Given the description of an element on the screen output the (x, y) to click on. 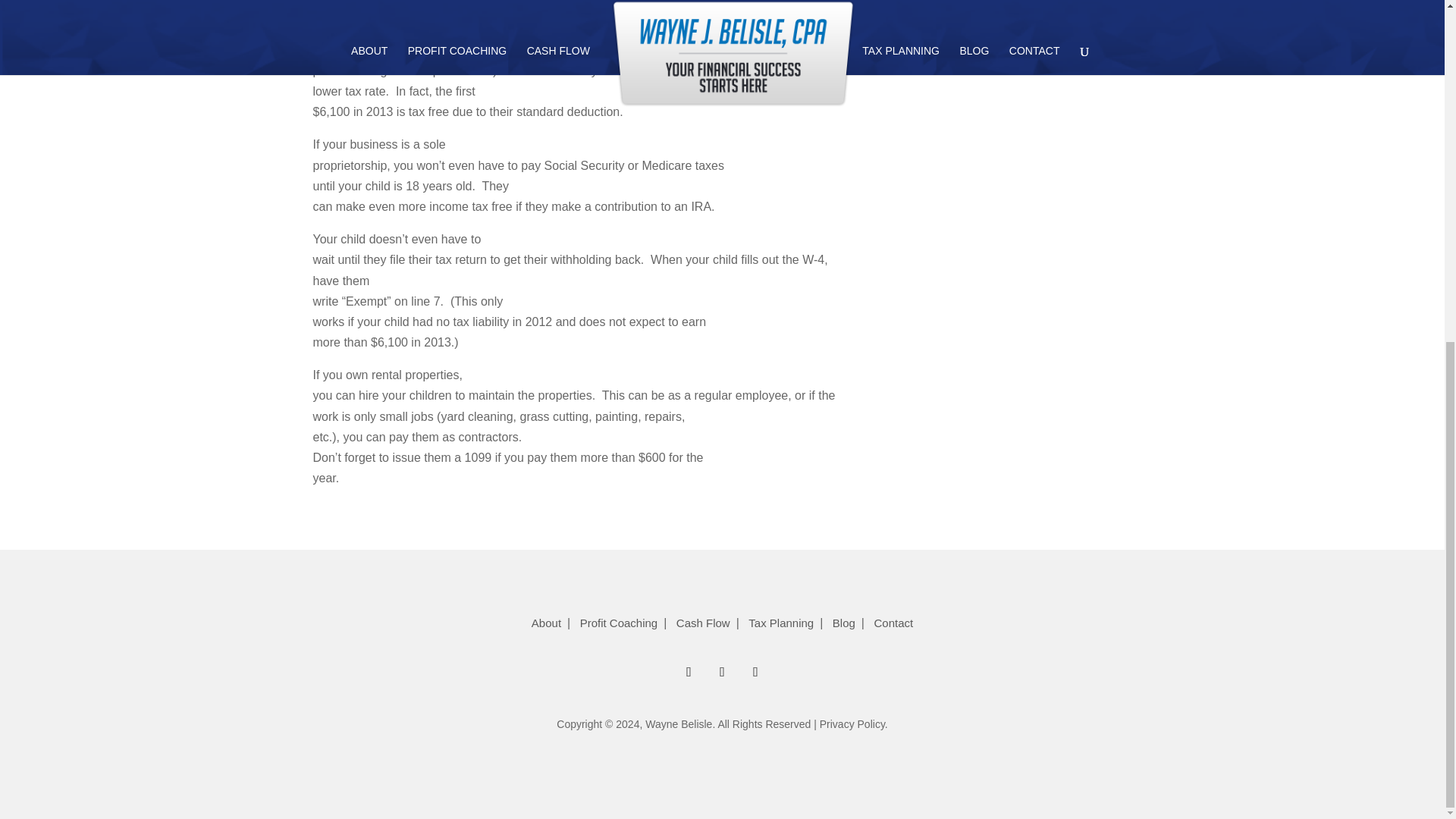
Follow on Facebook (688, 671)
Tax Planning (780, 622)
Privacy Policy (852, 724)
Blog (844, 622)
Profit Coaching (618, 622)
Follow on LinkedIn (721, 671)
Contact (892, 622)
Follow on Youtube (754, 671)
Cash Flow (702, 622)
About (546, 622)
